Given the description of an element on the screen output the (x, y) to click on. 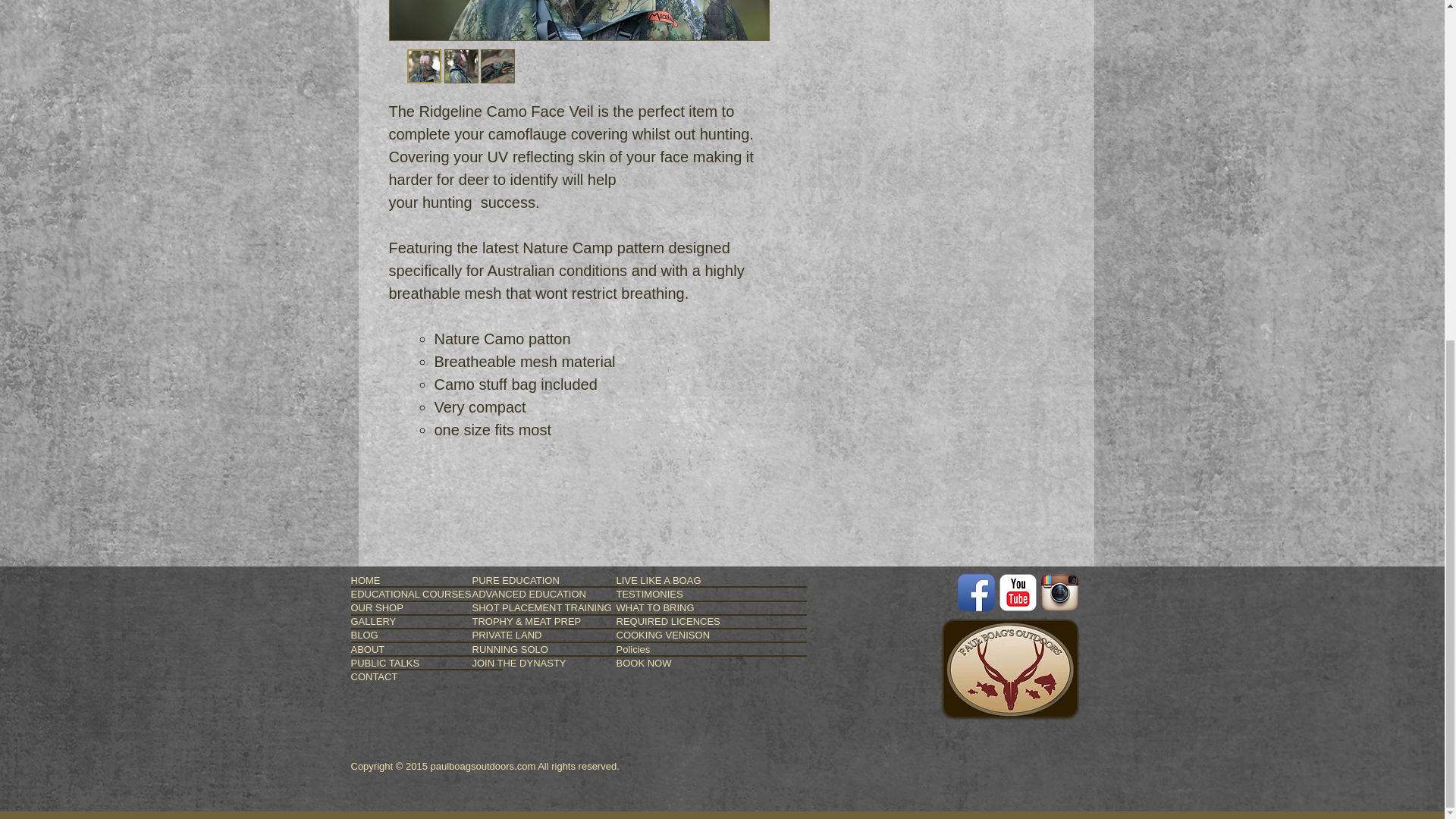
REQUIRED LICENCES (710, 621)
WHAT TO BRING (710, 607)
BOOK NOW (710, 663)
Paul Boag's Outdoors Logo  (1009, 668)
PURE EDUCATION (566, 580)
TESTIMONIES (710, 593)
CONTACT (426, 676)
BLOG (426, 634)
ABOUT (426, 649)
EDUCATIONAL COURSES (426, 593)
